Given the description of an element on the screen output the (x, y) to click on. 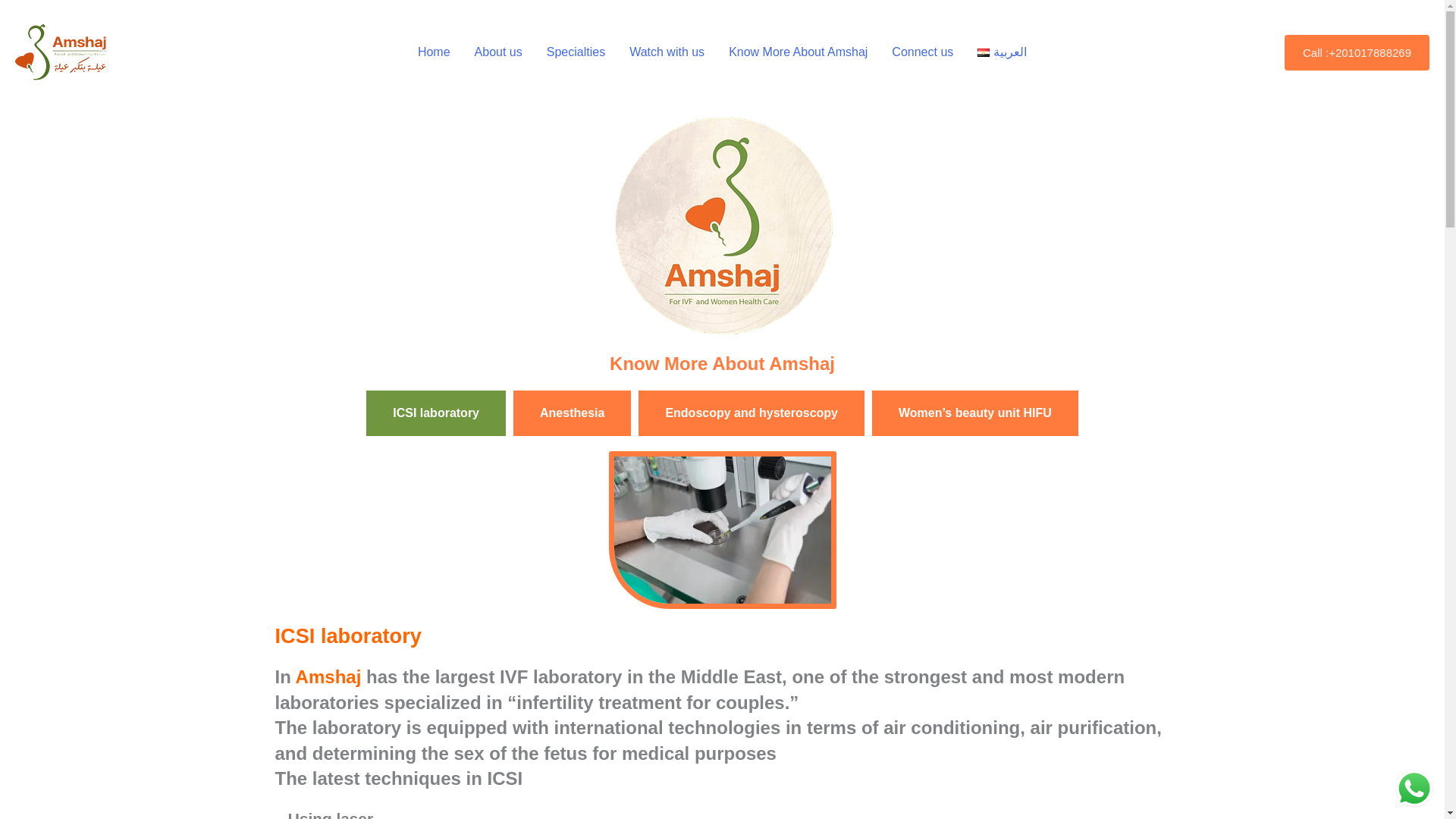
Know More About Amshaj (797, 51)
WhatsApp us (1413, 788)
Connect us (922, 51)
Specialties (575, 51)
ICSI laboratory (465, 435)
Watch with us (666, 51)
About us (498, 51)
Endoscopy and hysteroscopy (759, 438)
Anesthesia (590, 436)
Home (434, 51)
